Given the description of an element on the screen output the (x, y) to click on. 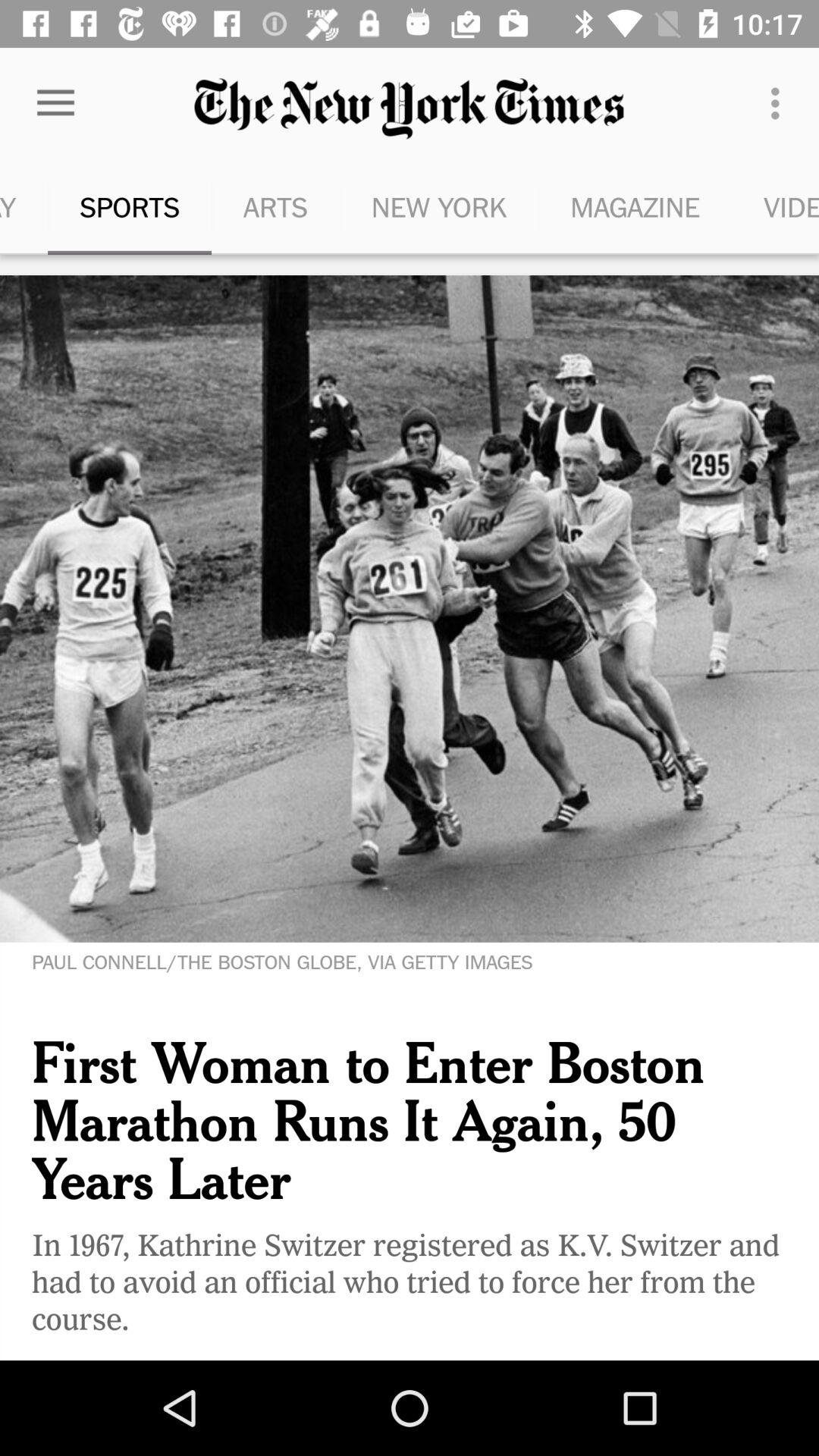
launch the item next to the magazine (775, 206)
